Given the description of an element on the screen output the (x, y) to click on. 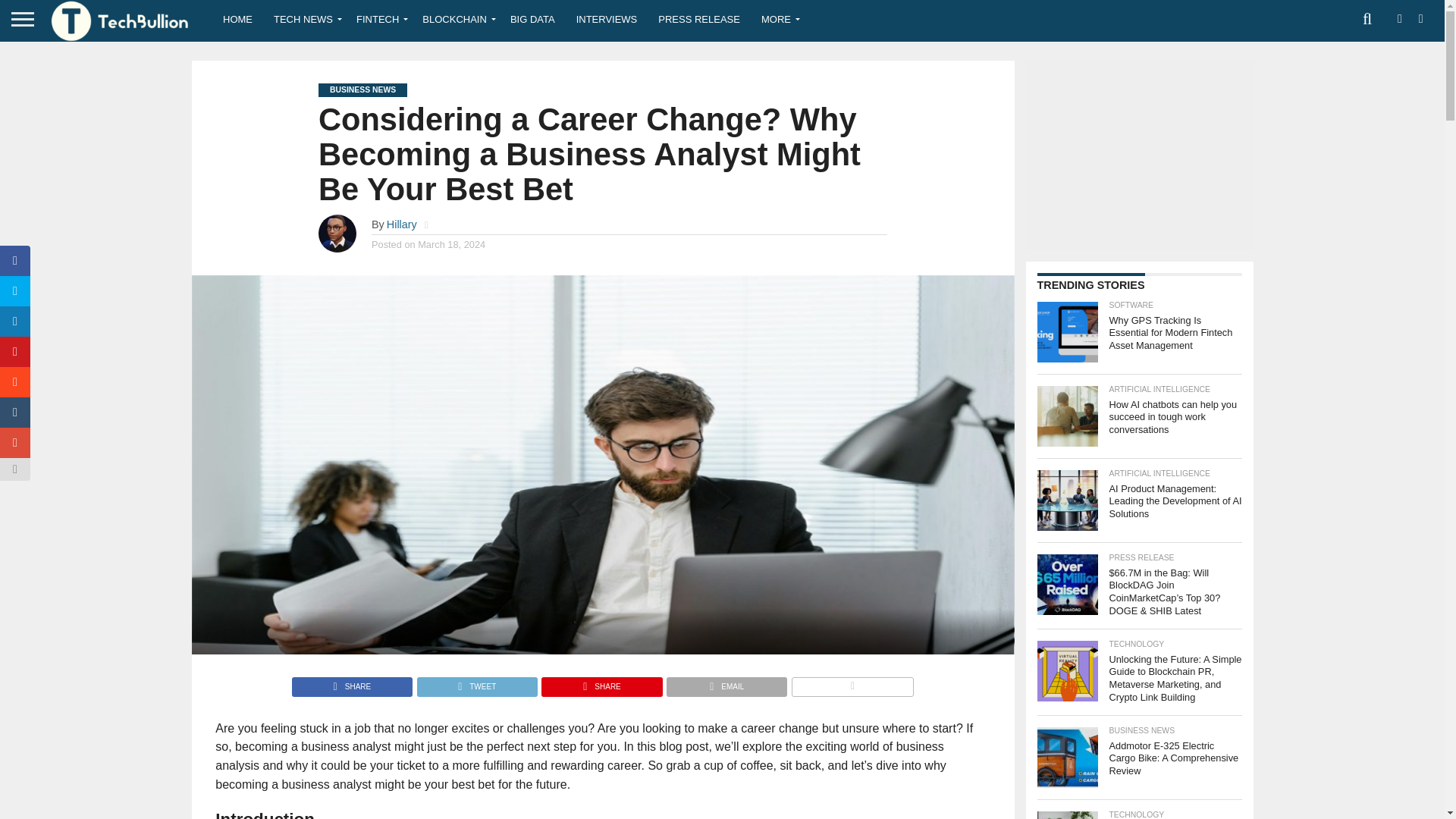
Posts by Hillary (401, 224)
Share on Facebook (352, 682)
Pin This Post (601, 682)
Tweet This Post (476, 682)
